Given the description of an element on the screen output the (x, y) to click on. 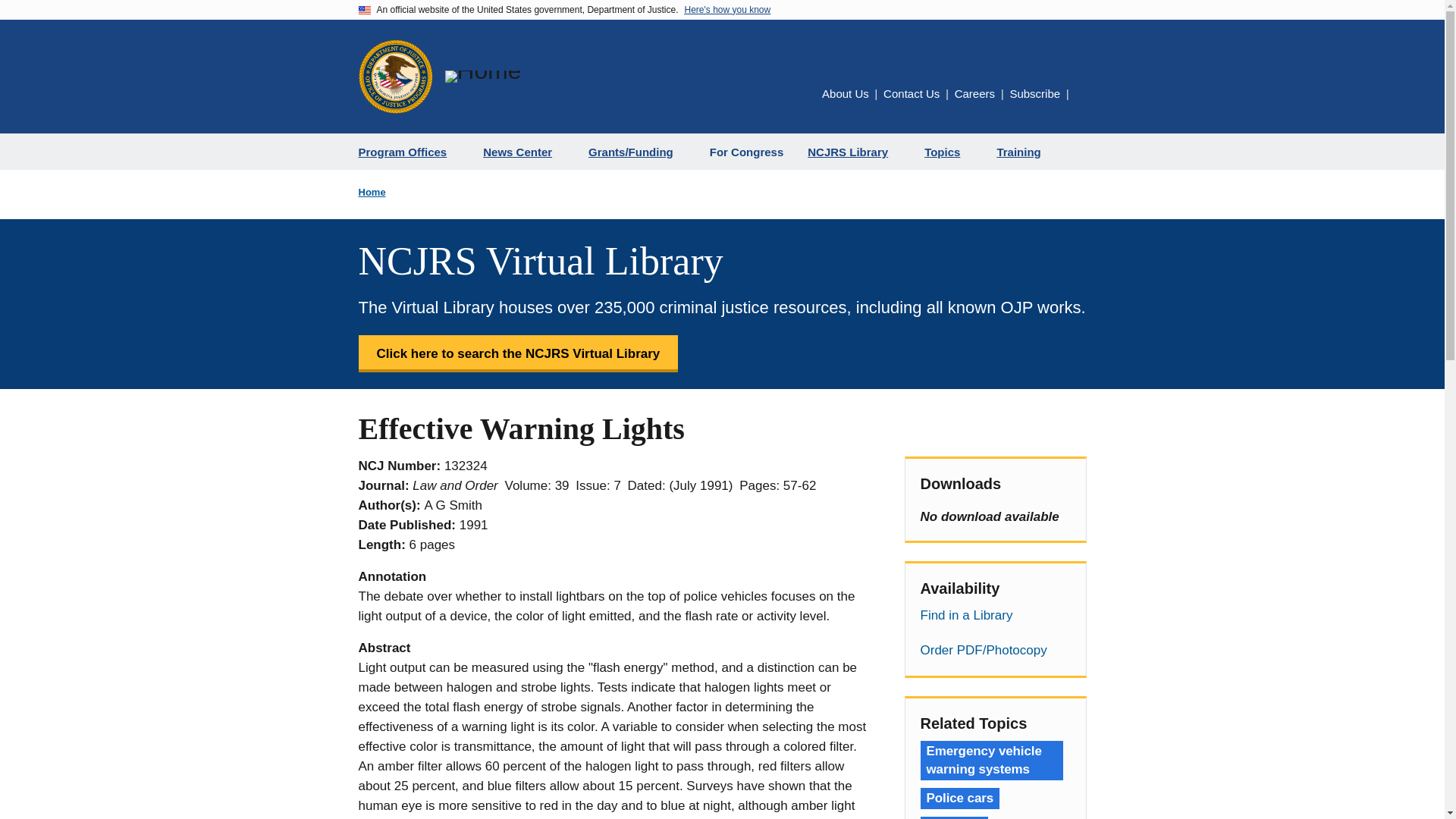
Topics (948, 151)
Here's how you know (727, 9)
NCJRS Library (853, 151)
For Congress (746, 151)
Home (482, 76)
Contact Us (911, 93)
Careers (974, 93)
Maryland (954, 817)
Subscribe (1034, 93)
Training (1024, 151)
Emergency vehicle warning systems (991, 760)
Office of Justice Programs (395, 76)
Share (1080, 94)
News Center (523, 151)
Program Offices (408, 151)
